Given the description of an element on the screen output the (x, y) to click on. 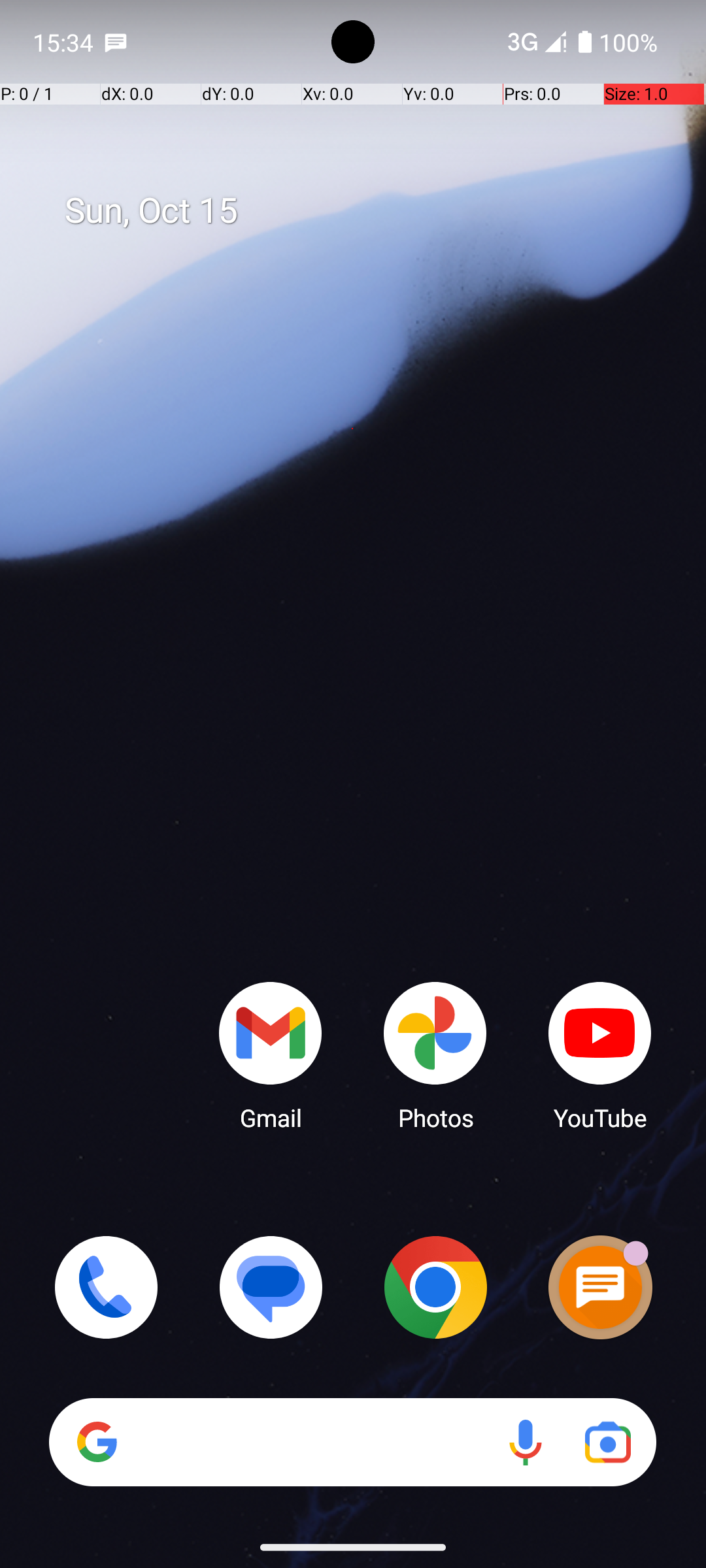
SMS Messenger Element type: android.widget.TextView (599, 1287)
